Given the description of an element on the screen output the (x, y) to click on. 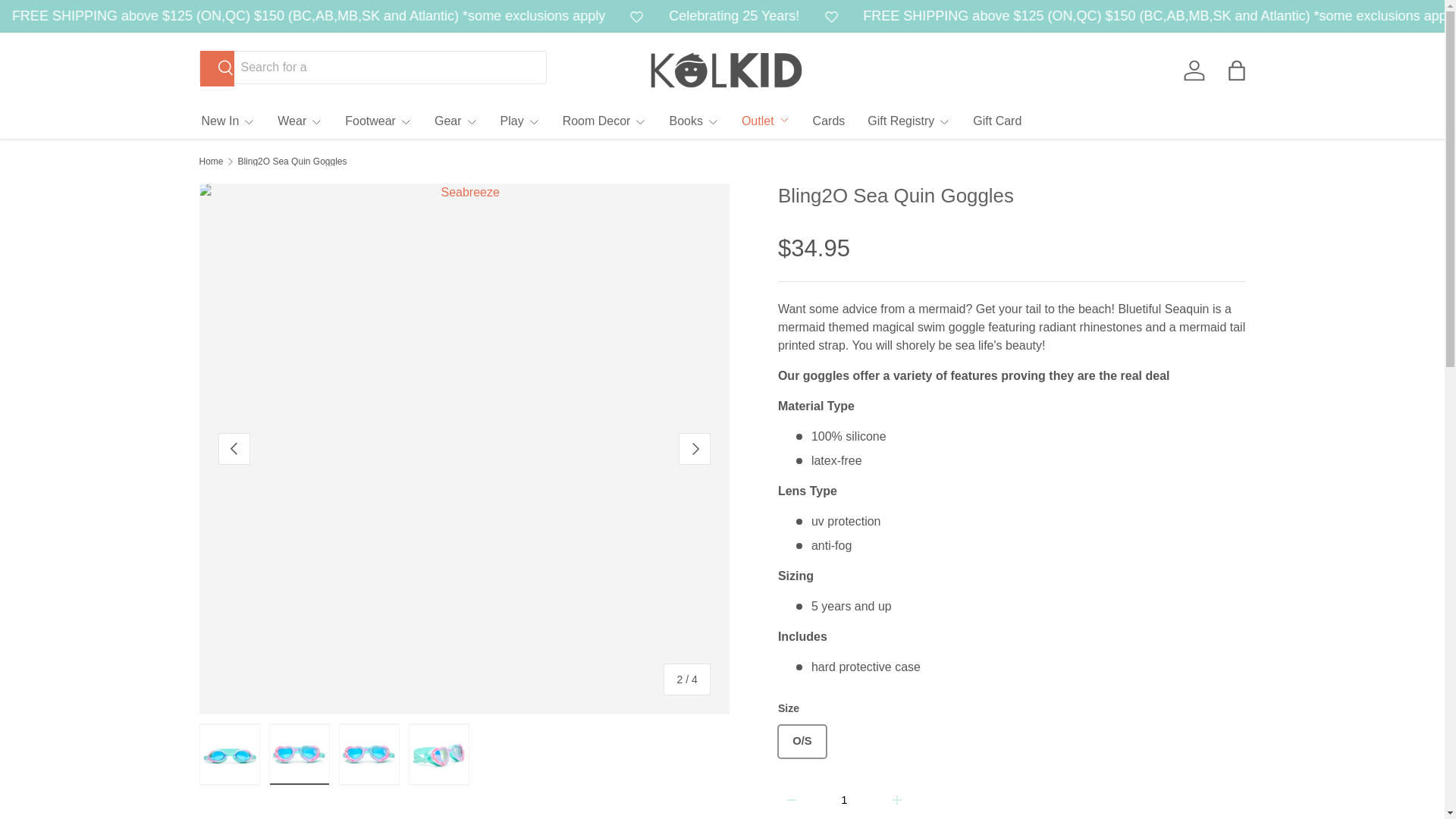
Celebrating 25 Years! (31, 15)
Wear (299, 120)
Log in (1192, 70)
Skip to content (64, 21)
Celebrating 25 Years! (831, 15)
Bag (1236, 70)
1 (844, 798)
Search (217, 68)
New In (229, 120)
